Given the description of an element on the screen output the (x, y) to click on. 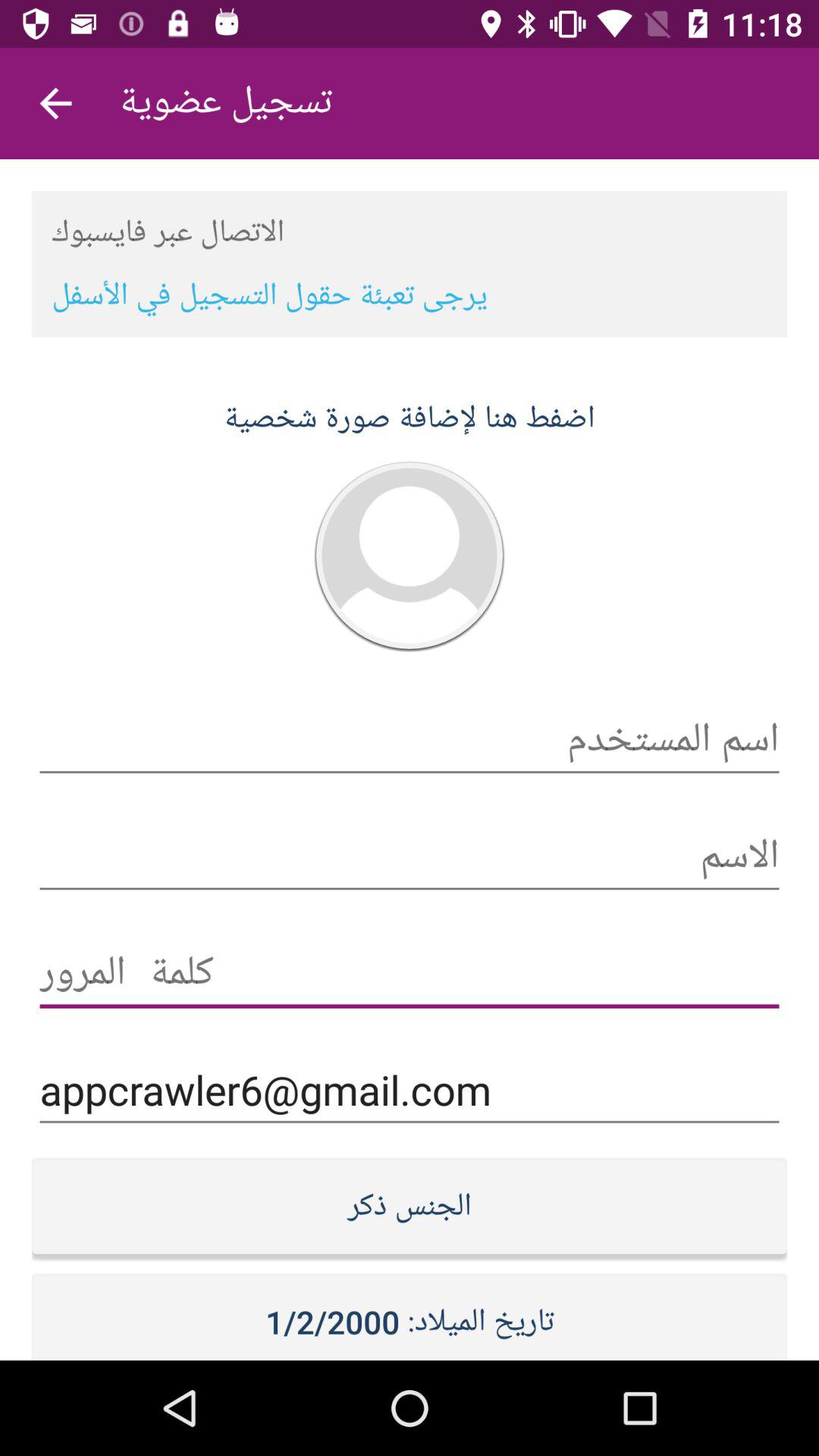
select the icon above the appcrawler6@gmail.com icon (409, 973)
